Given the description of an element on the screen output the (x, y) to click on. 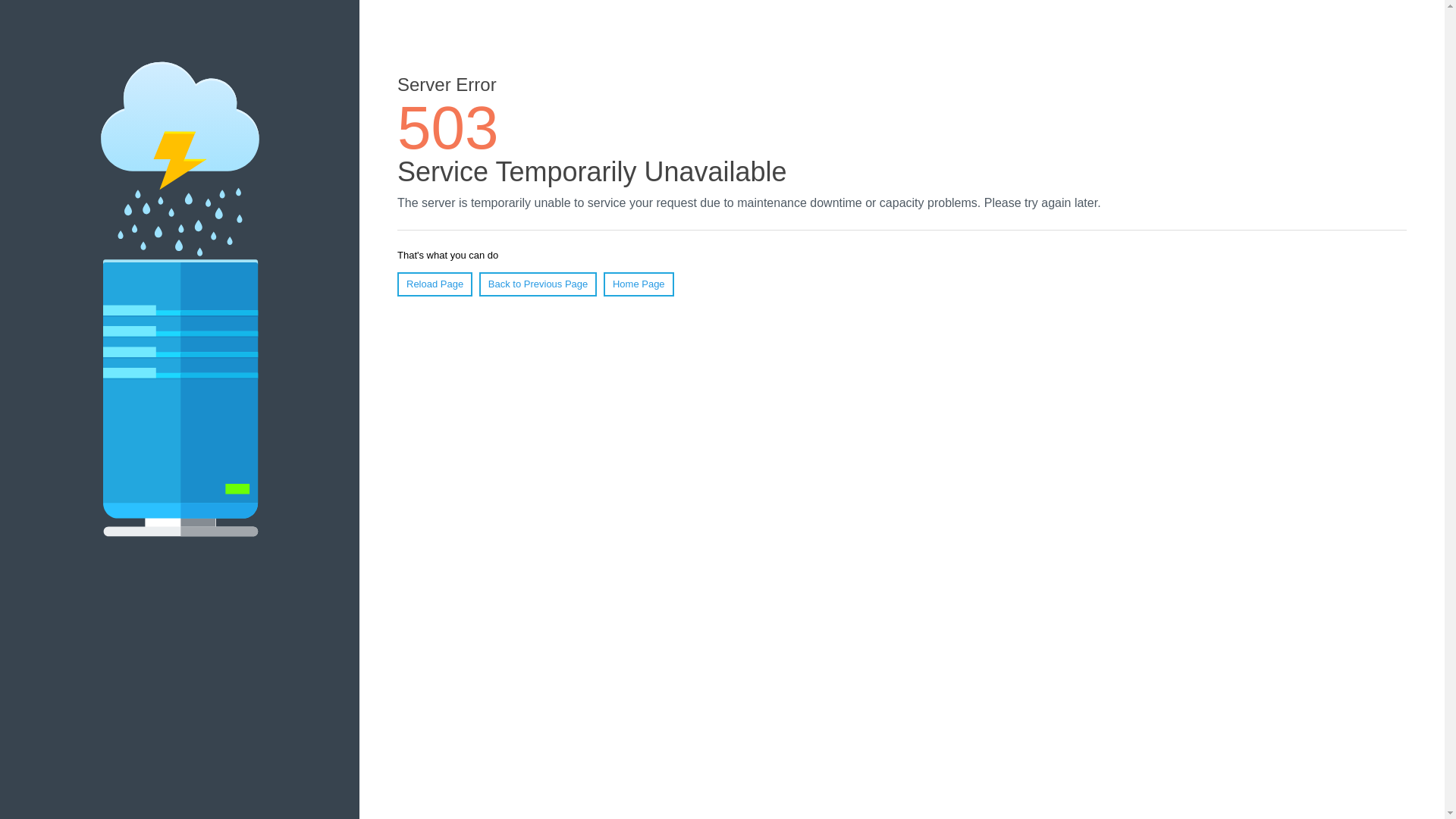
Reload Page (434, 283)
Home Page (639, 283)
Back to Previous Page (537, 283)
